Given the description of an element on the screen output the (x, y) to click on. 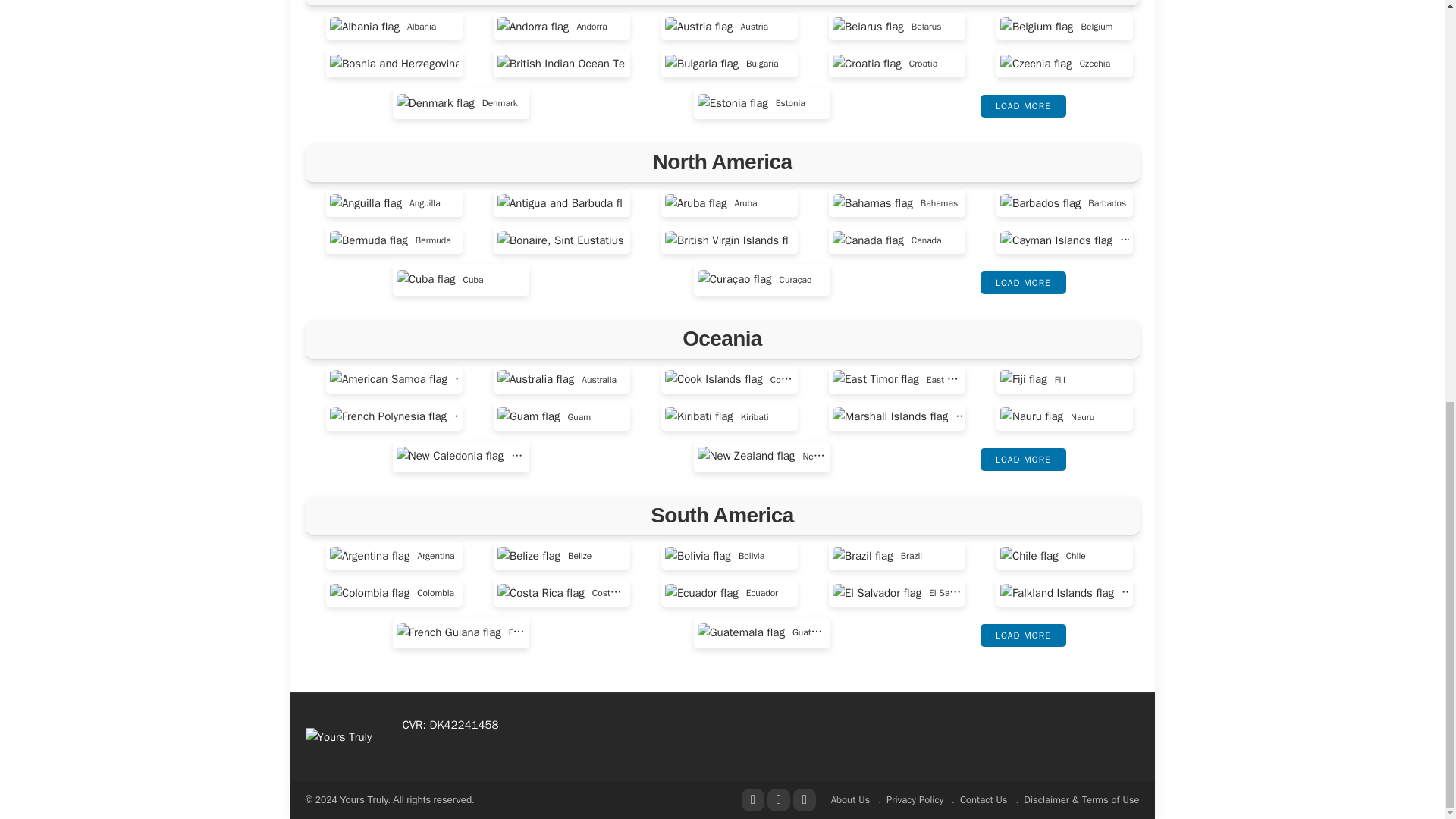
Yours Truly (337, 735)
instagram (804, 799)
twitter (778, 799)
facebook (752, 799)
